Given the description of an element on the screen output the (x, y) to click on. 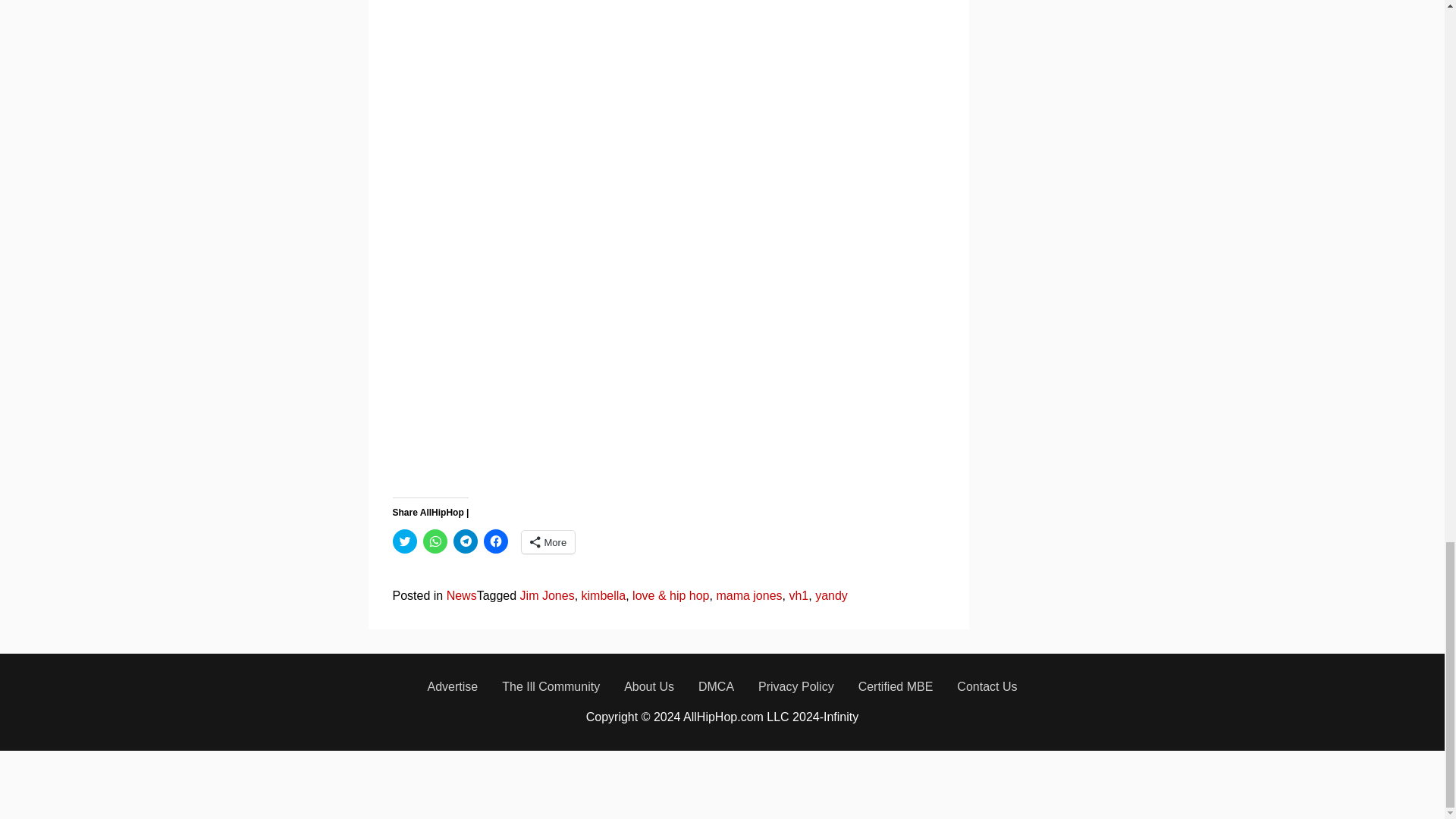
YouTube player (631, 108)
Click to share on Telegram (464, 541)
Click to share on Twitter (404, 541)
Click to share on WhatsApp (434, 541)
YouTube player (631, 356)
Click to share on Facebook (495, 541)
